Given the description of an element on the screen output the (x, y) to click on. 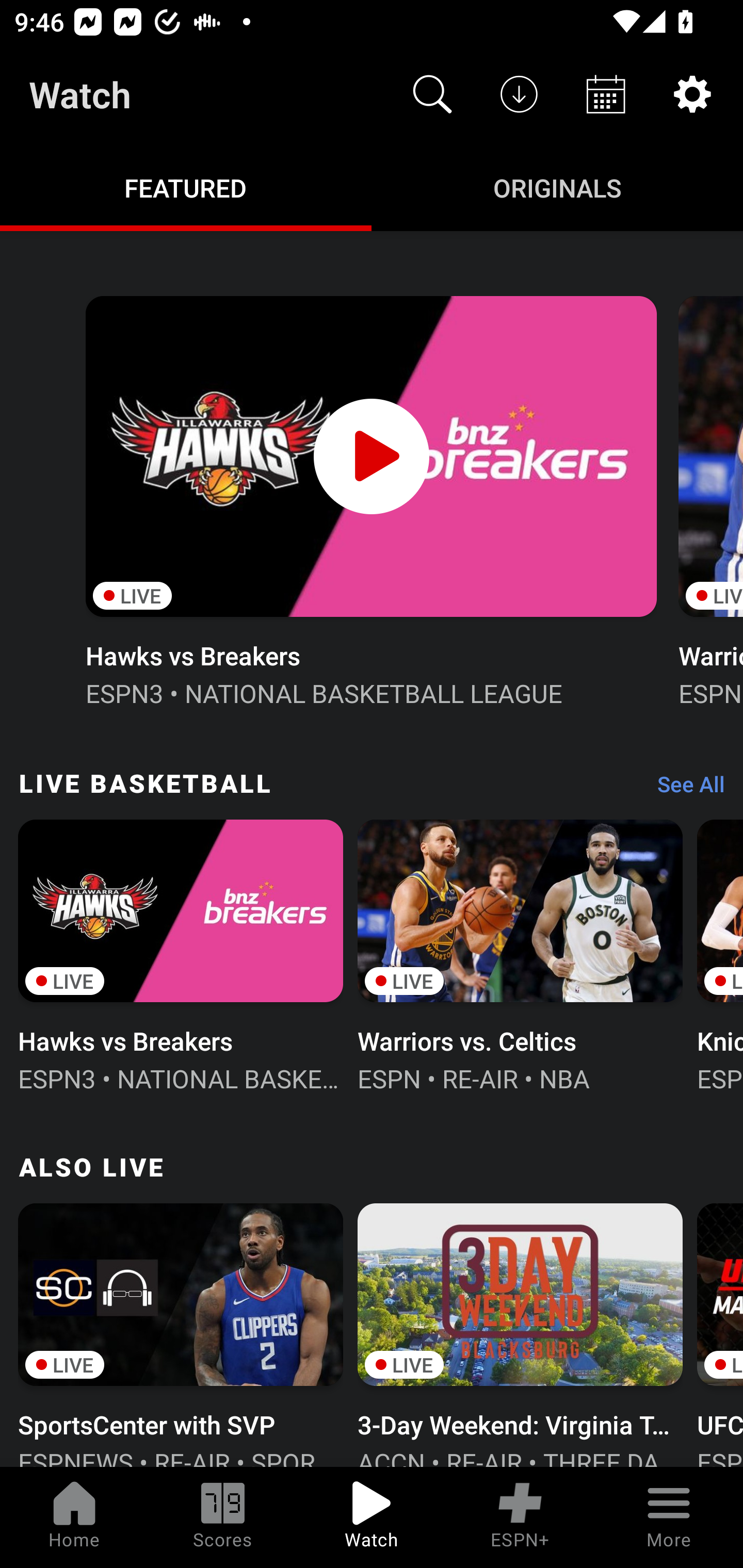
Search (432, 93)
Downloads (518, 93)
Schedule (605, 93)
Settings (692, 93)
Originals ORIGINALS (557, 187)
See All (683, 788)
LIVE Warriors vs. Celtics ESPN • RE-AIR • NBA (519, 954)
Home (74, 1517)
Scores (222, 1517)
ESPN+ (519, 1517)
More (668, 1517)
